Given the description of an element on the screen output the (x, y) to click on. 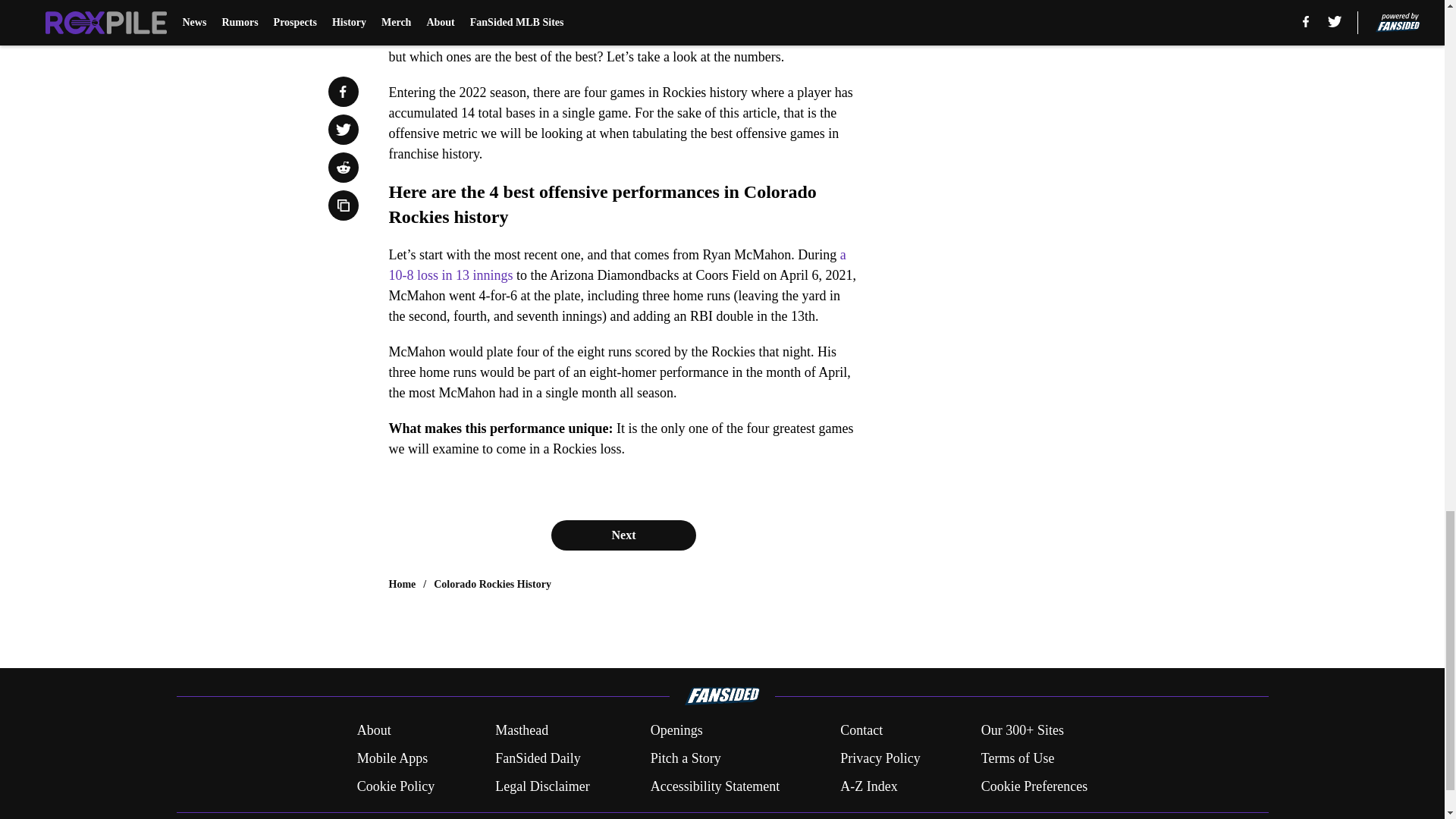
Mobile Apps (392, 758)
About (373, 730)
Cookie Policy (395, 786)
FanSided Daily (537, 758)
Openings (676, 730)
Contact (861, 730)
Home (401, 584)
A-Z Index (868, 786)
Privacy Policy (880, 758)
Terms of Use (1017, 758)
Legal Disclaimer (542, 786)
Colorado Rockies History (492, 584)
a 10-8 loss in 13 innings (616, 264)
Masthead (521, 730)
Next (622, 535)
